Given the description of an element on the screen output the (x, y) to click on. 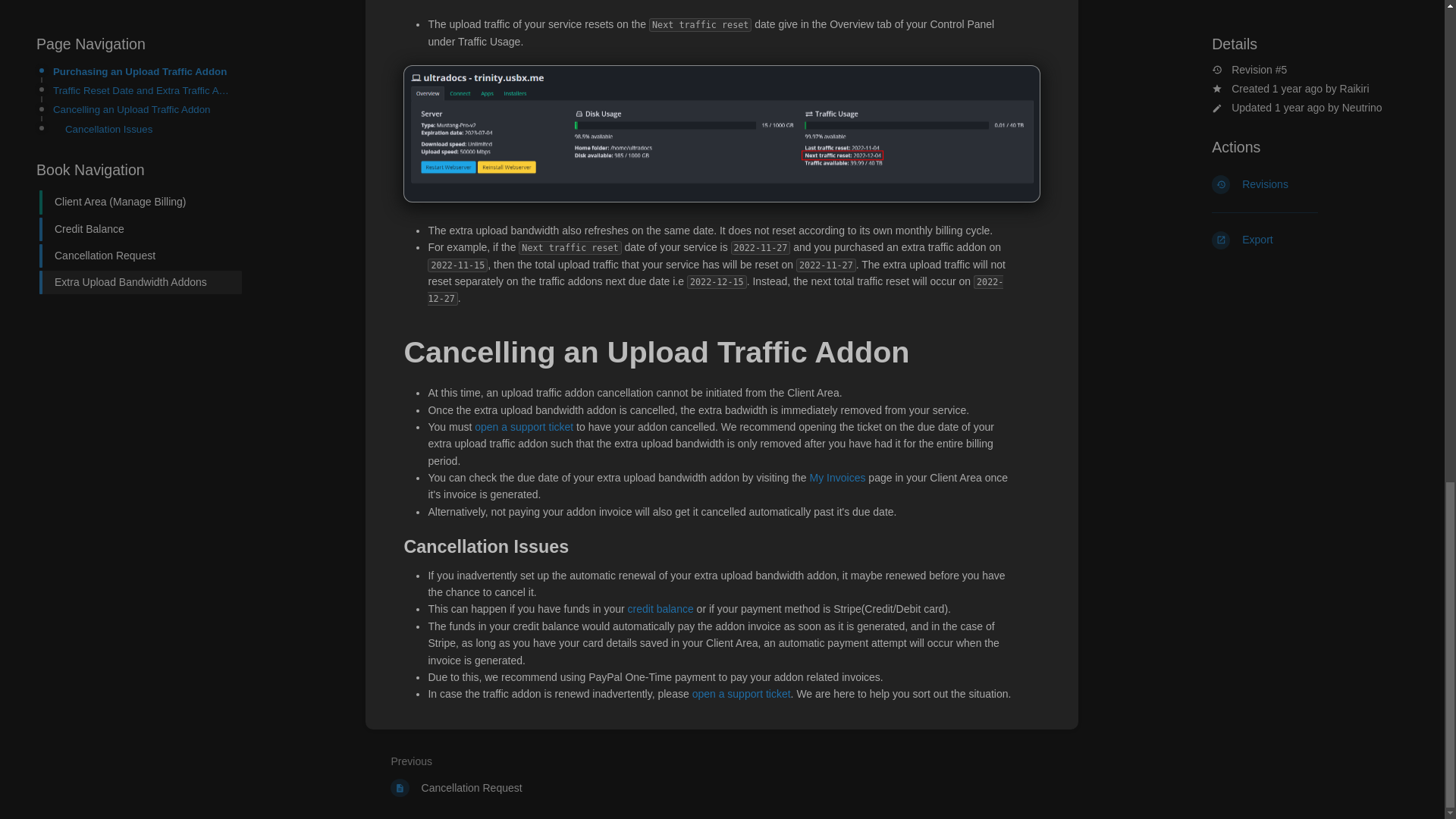
open a support ticket (545, 776)
open a support ticket (741, 693)
credit balance (523, 426)
My Invoices (660, 608)
